Given the description of an element on the screen output the (x, y) to click on. 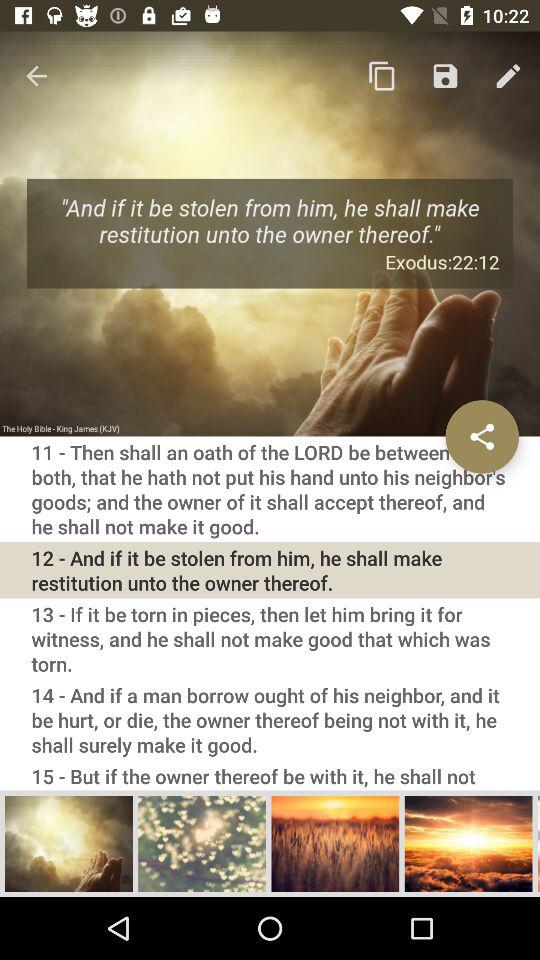
launch the icon on the right (482, 436)
